Given the description of an element on the screen output the (x, y) to click on. 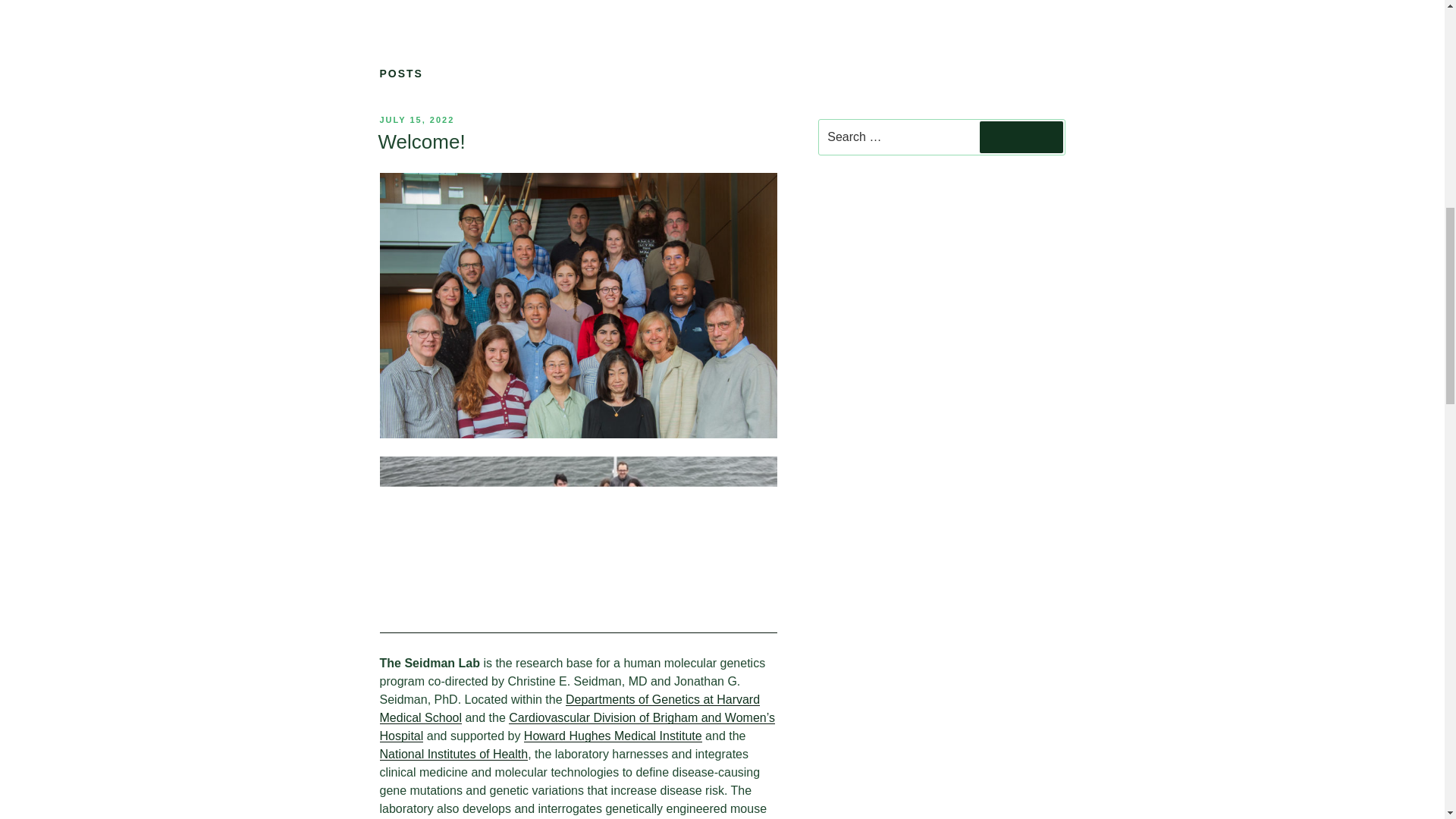
National Institutes of Health (452, 753)
School (443, 717)
Welcome! (420, 141)
Departments of Genetics at Harvard Medical (569, 707)
Howard Hughes Medical Institute (612, 735)
Search (1020, 137)
JULY 15, 2022 (416, 119)
